Given the description of an element on the screen output the (x, y) to click on. 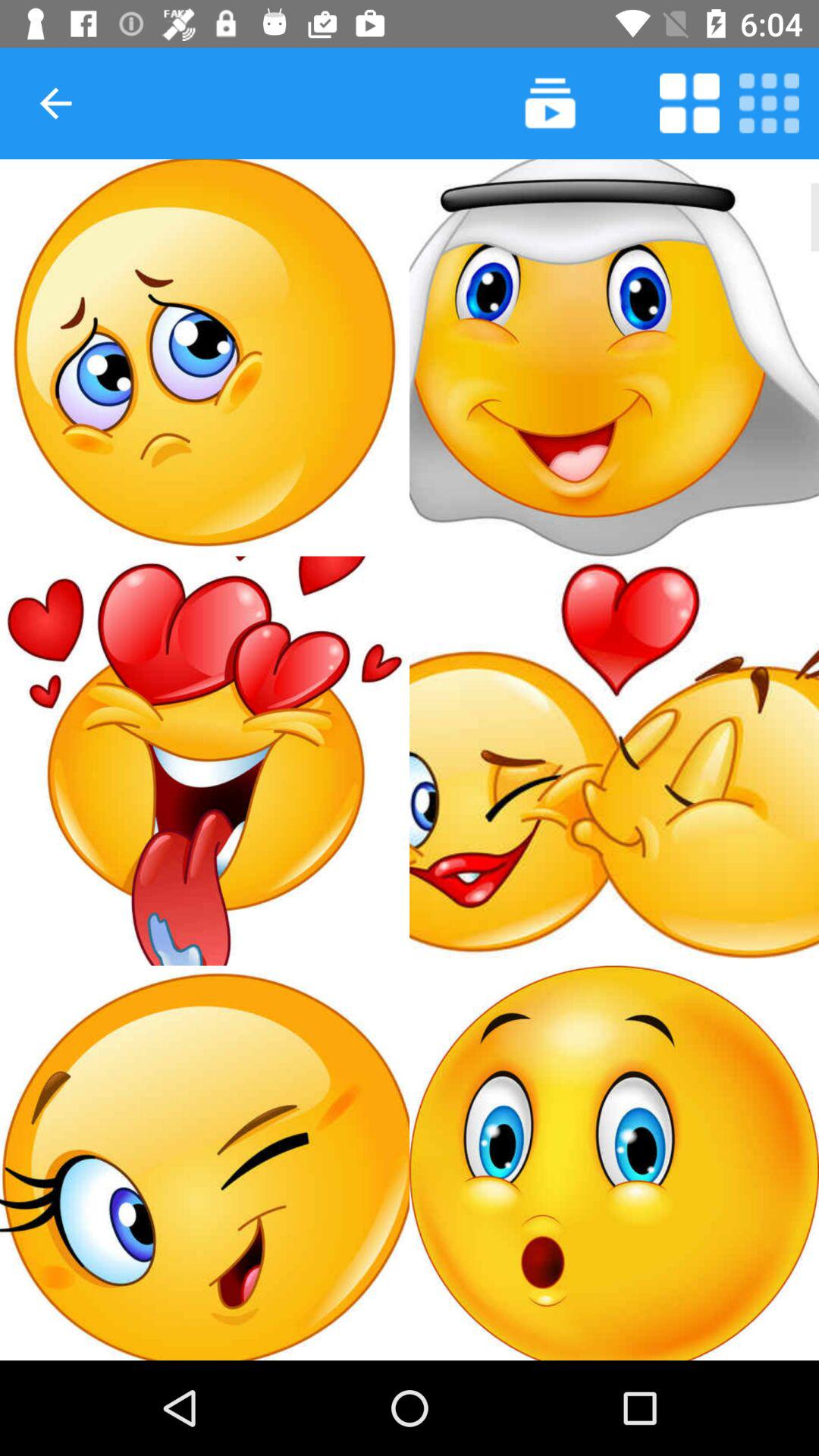
select emoticon (204, 357)
